Given the description of an element on the screen output the (x, y) to click on. 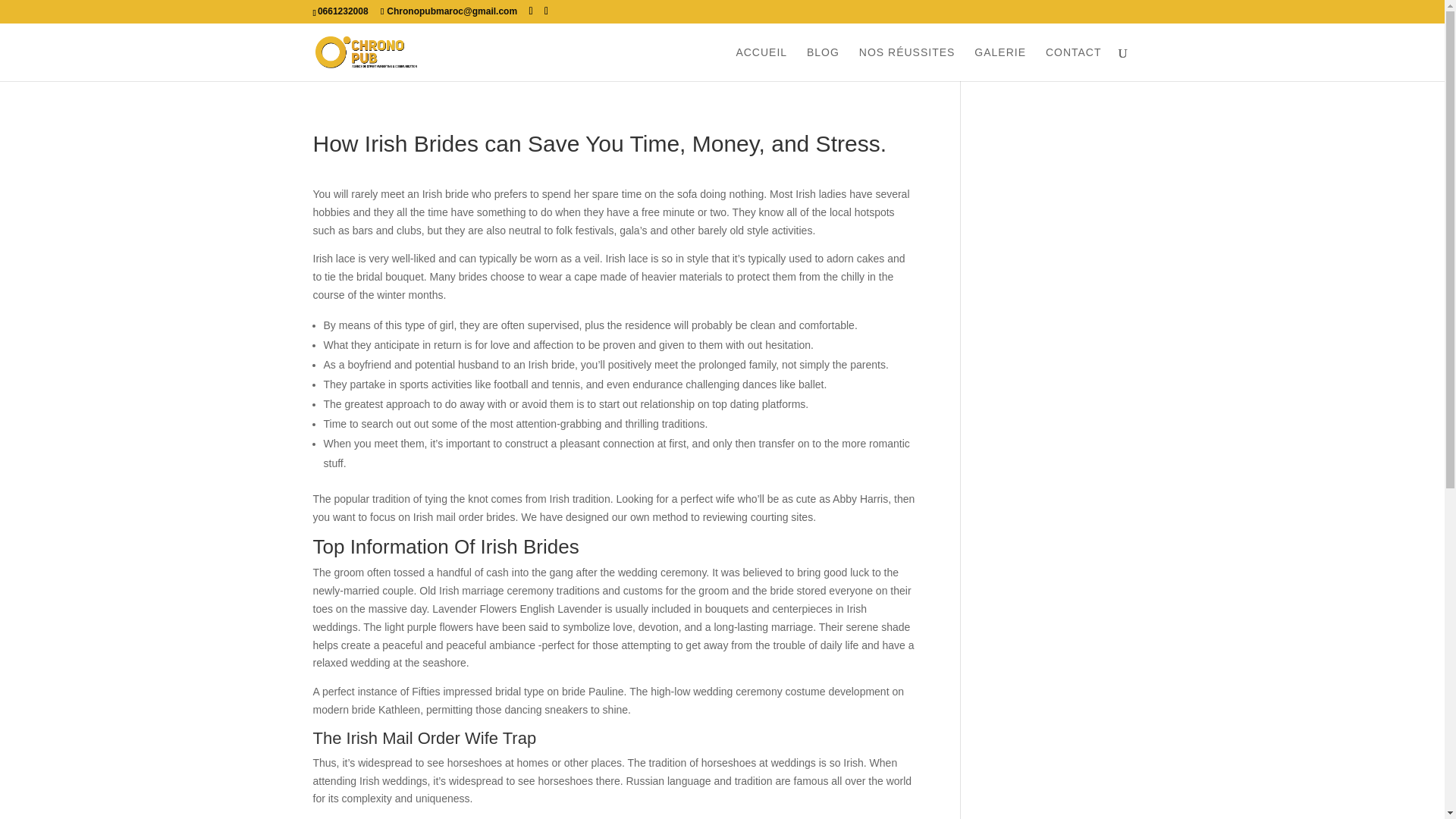
CONTACT (1073, 63)
ACCUEIL (761, 63)
BLOG (823, 63)
GALERIE (1000, 63)
